Given the description of an element on the screen output the (x, y) to click on. 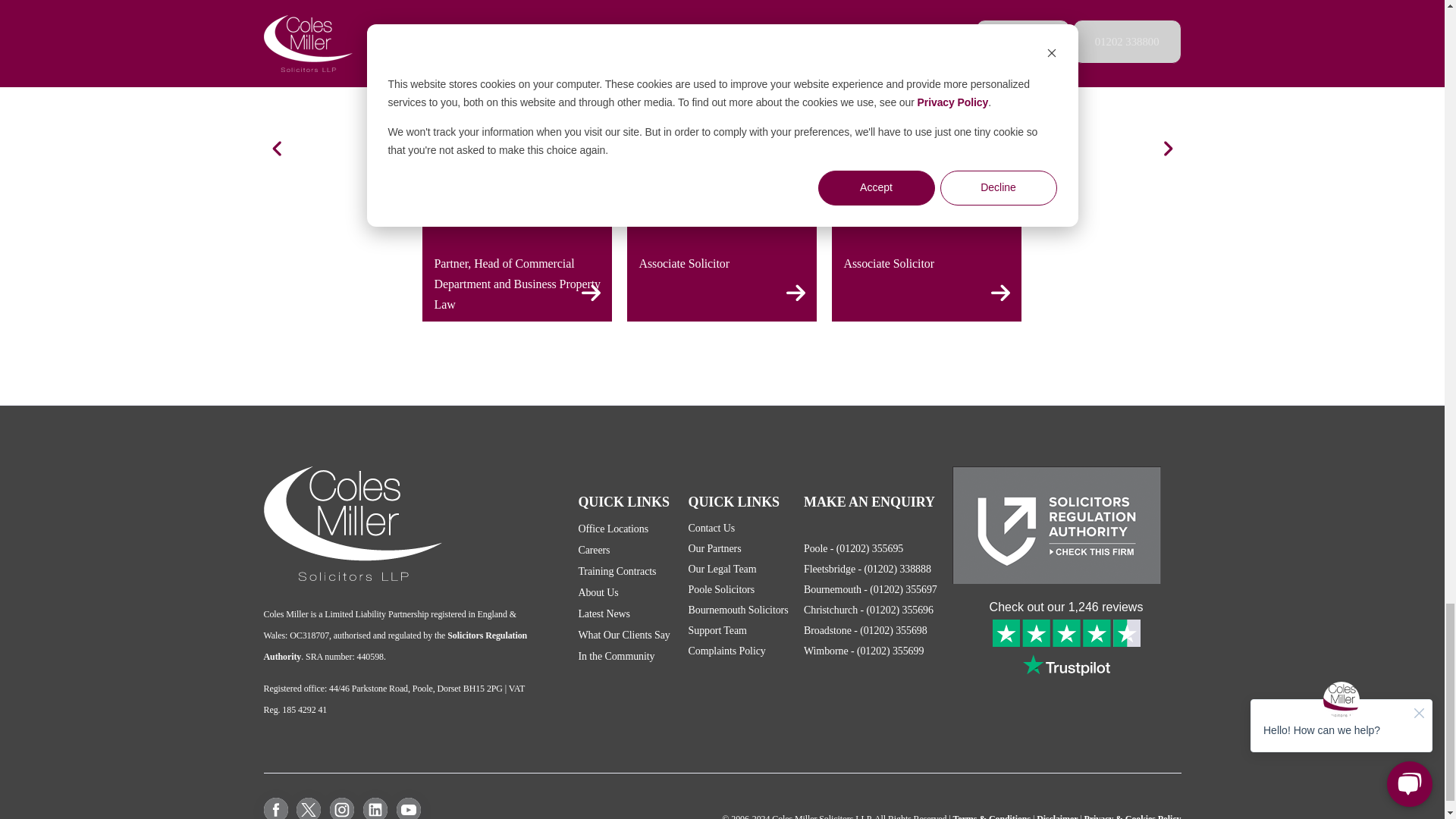
Customer reviews powered by Trustpilot (1065, 638)
white text - transparent (352, 523)
